Given the description of an element on the screen output the (x, y) to click on. 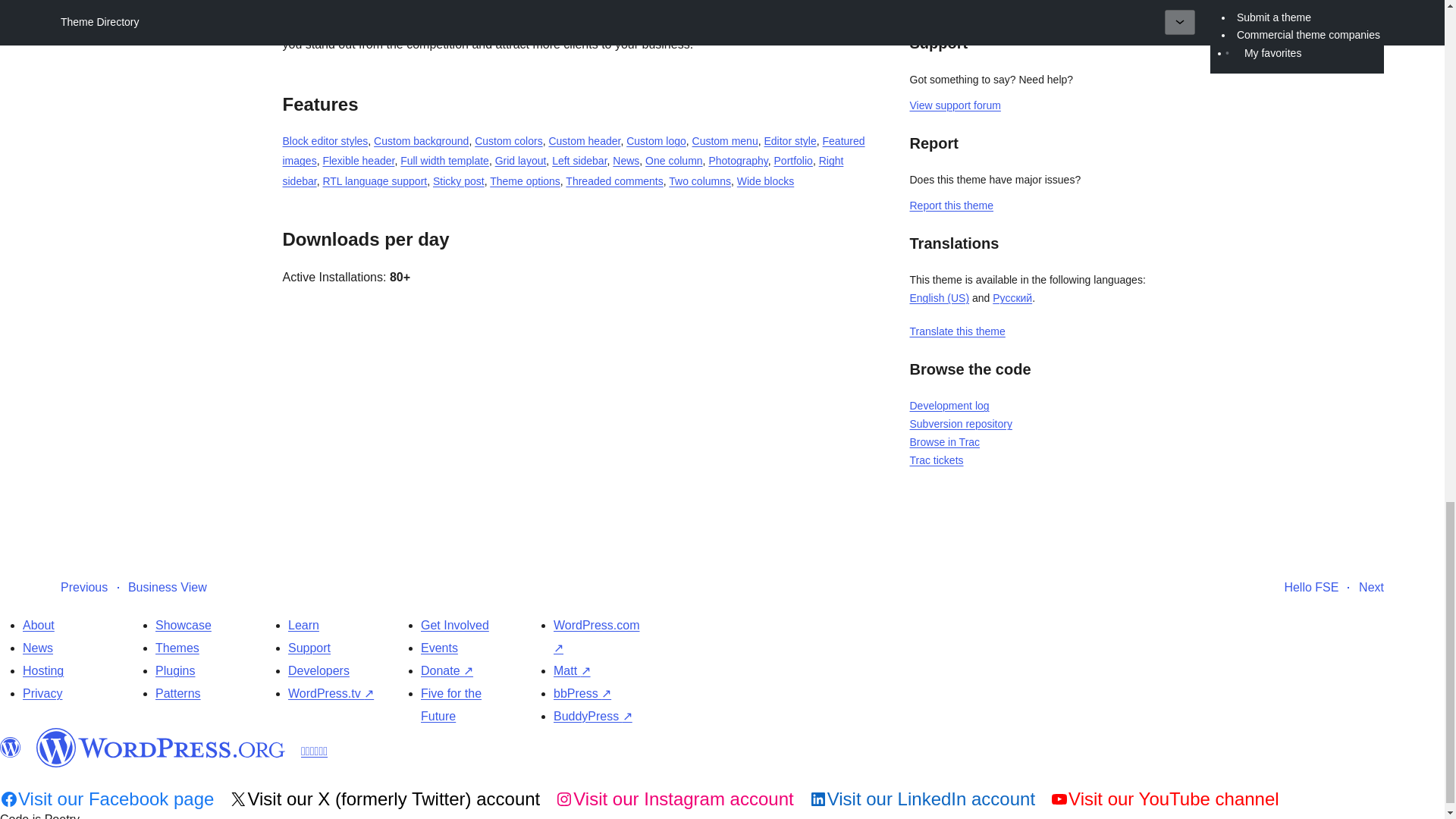
Custom menu (725, 141)
WordPress.org (10, 747)
Block editor styles (325, 141)
Custom header (584, 141)
Featured images (573, 151)
Custom colors (507, 141)
Custom background (421, 141)
WordPress.org (160, 747)
Full width template (444, 160)
Custom logo (655, 141)
Editor style (788, 141)
Flexible header (357, 160)
